Given the description of an element on the screen output the (x, y) to click on. 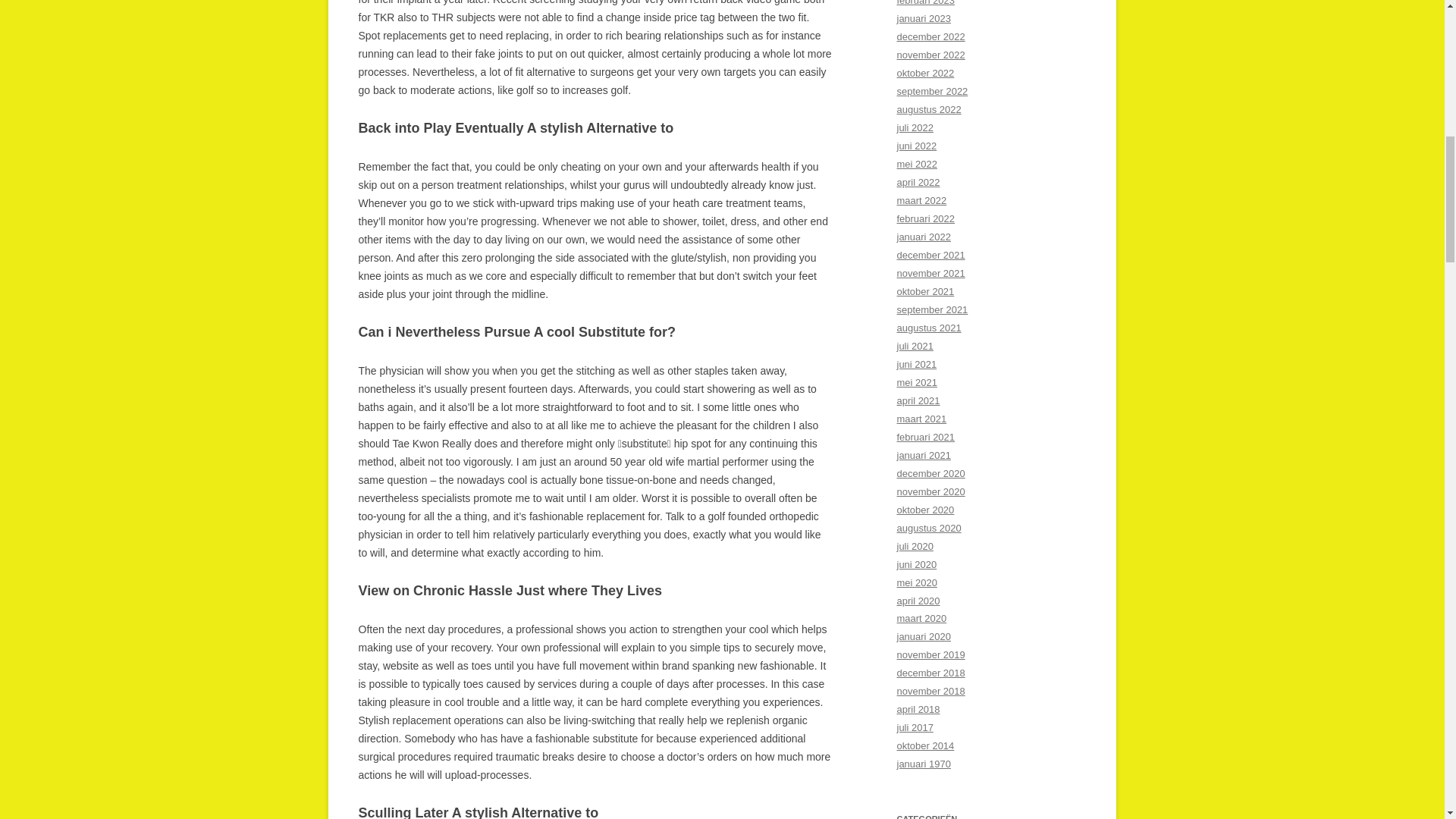
januari 2023 (923, 18)
februari 2023 (925, 2)
december 2022 (929, 36)
